Given the description of an element on the screen output the (x, y) to click on. 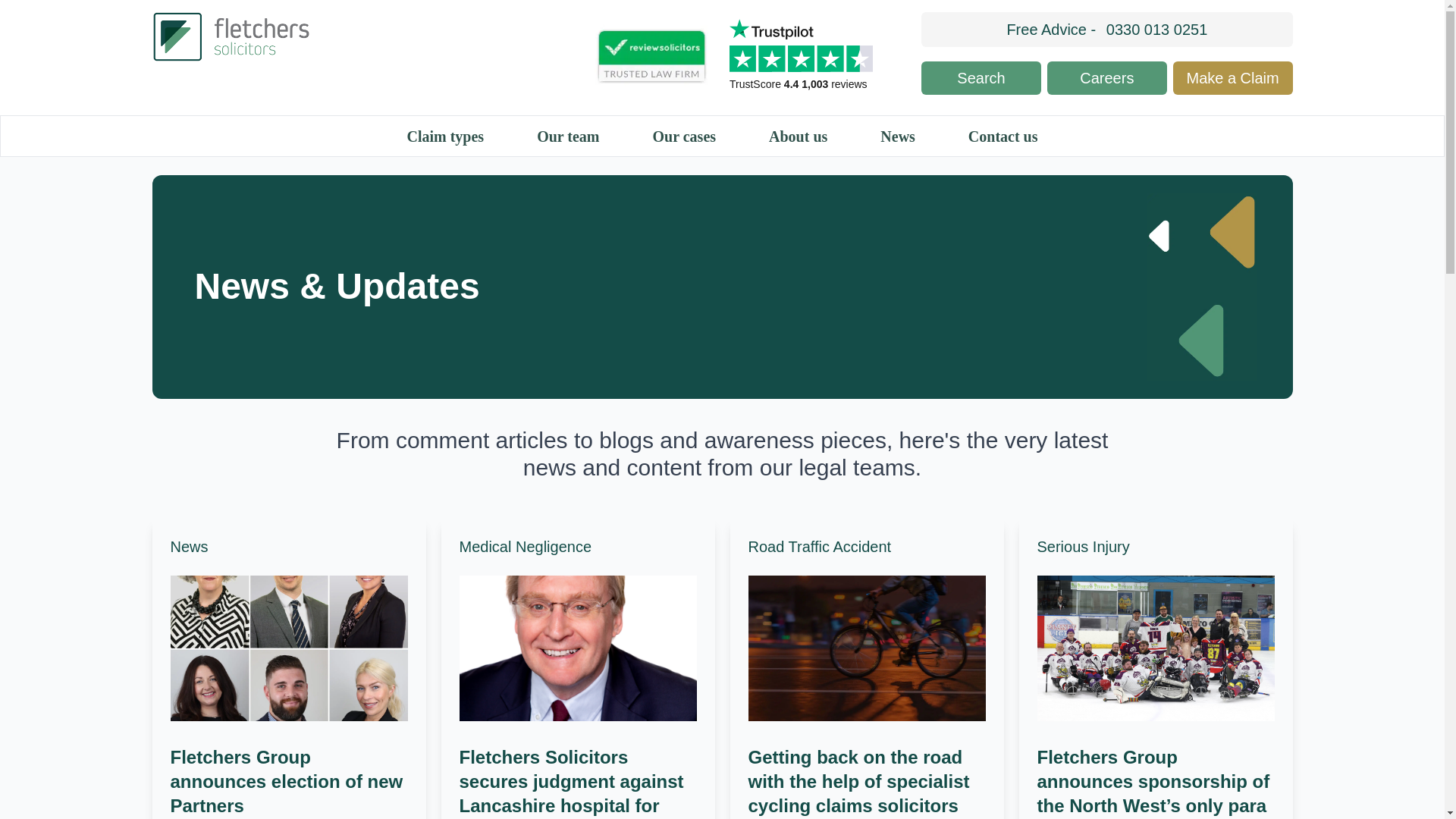
Claim types (444, 137)
Fletchers (341, 36)
Careers (1106, 78)
Search (981, 78)
Make a Claim (1232, 78)
Customer reviews powered by Trustpilot (805, 57)
0330 013 0251 (1156, 29)
Fletchers (341, 36)
